Given the description of an element on the screen output the (x, y) to click on. 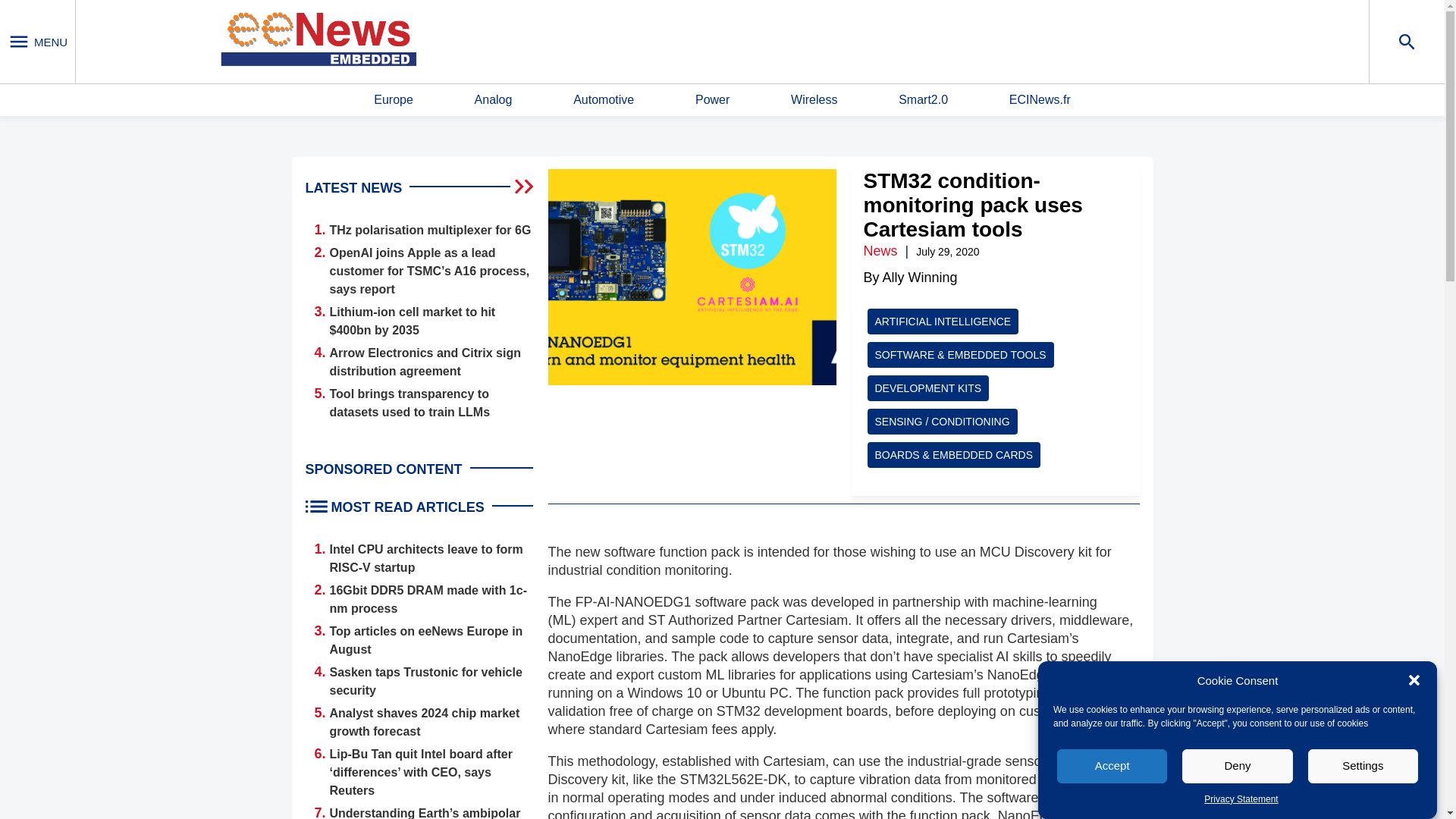
Wireless (813, 99)
Analog (493, 99)
Europe (393, 99)
Smart2.0 (922, 99)
Automotive (603, 99)
ECINews.fr (1039, 99)
Power (712, 99)
